Given the description of an element on the screen output the (x, y) to click on. 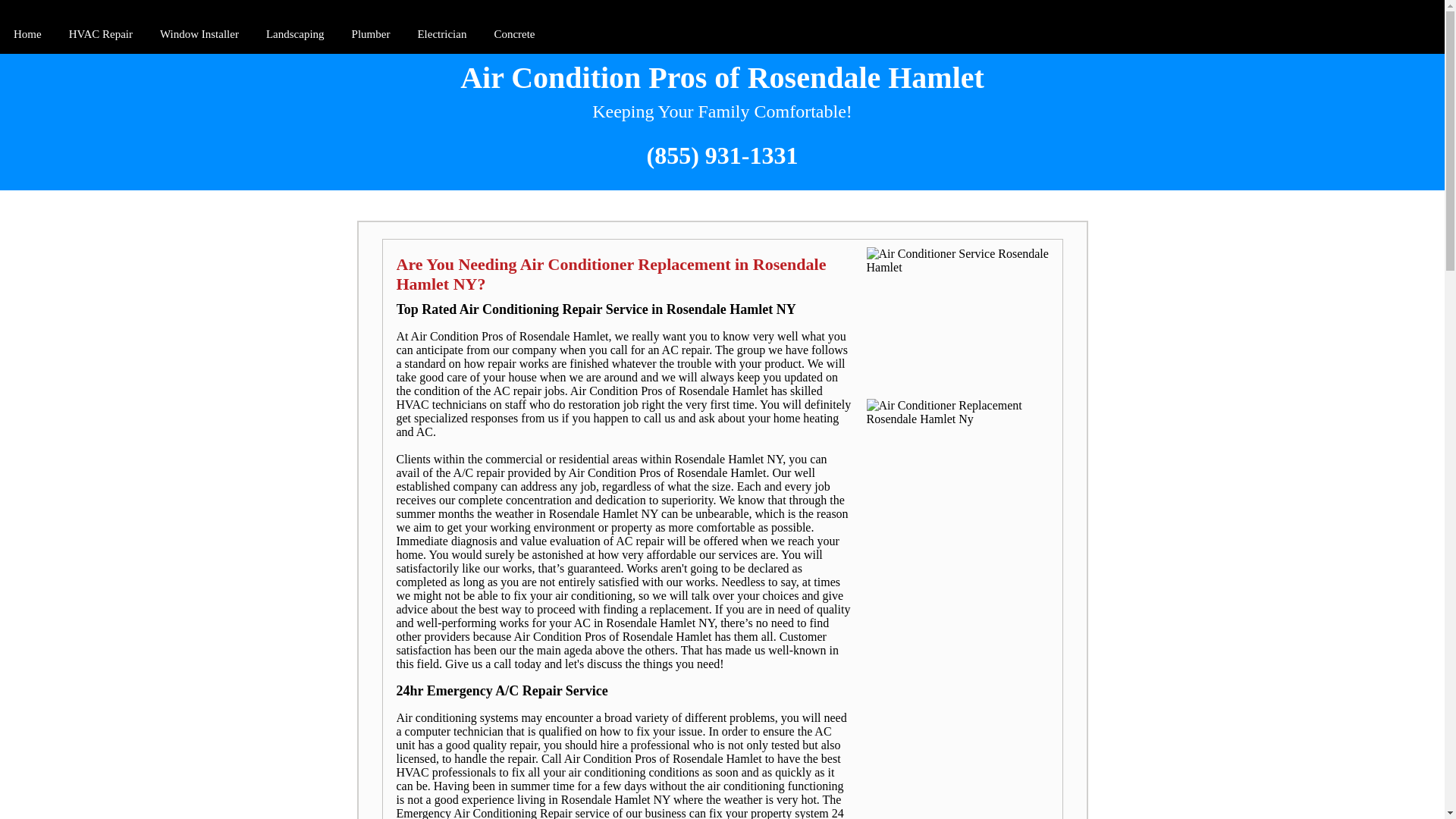
Electrician (441, 34)
Window Installer (199, 34)
Air Condition Pros of Rosendale Hamlet (721, 77)
HVAC Repair (100, 34)
Concrete (513, 34)
Plumber (370, 34)
Landscaping (295, 34)
Home (27, 34)
